Given the description of an element on the screen output the (x, y) to click on. 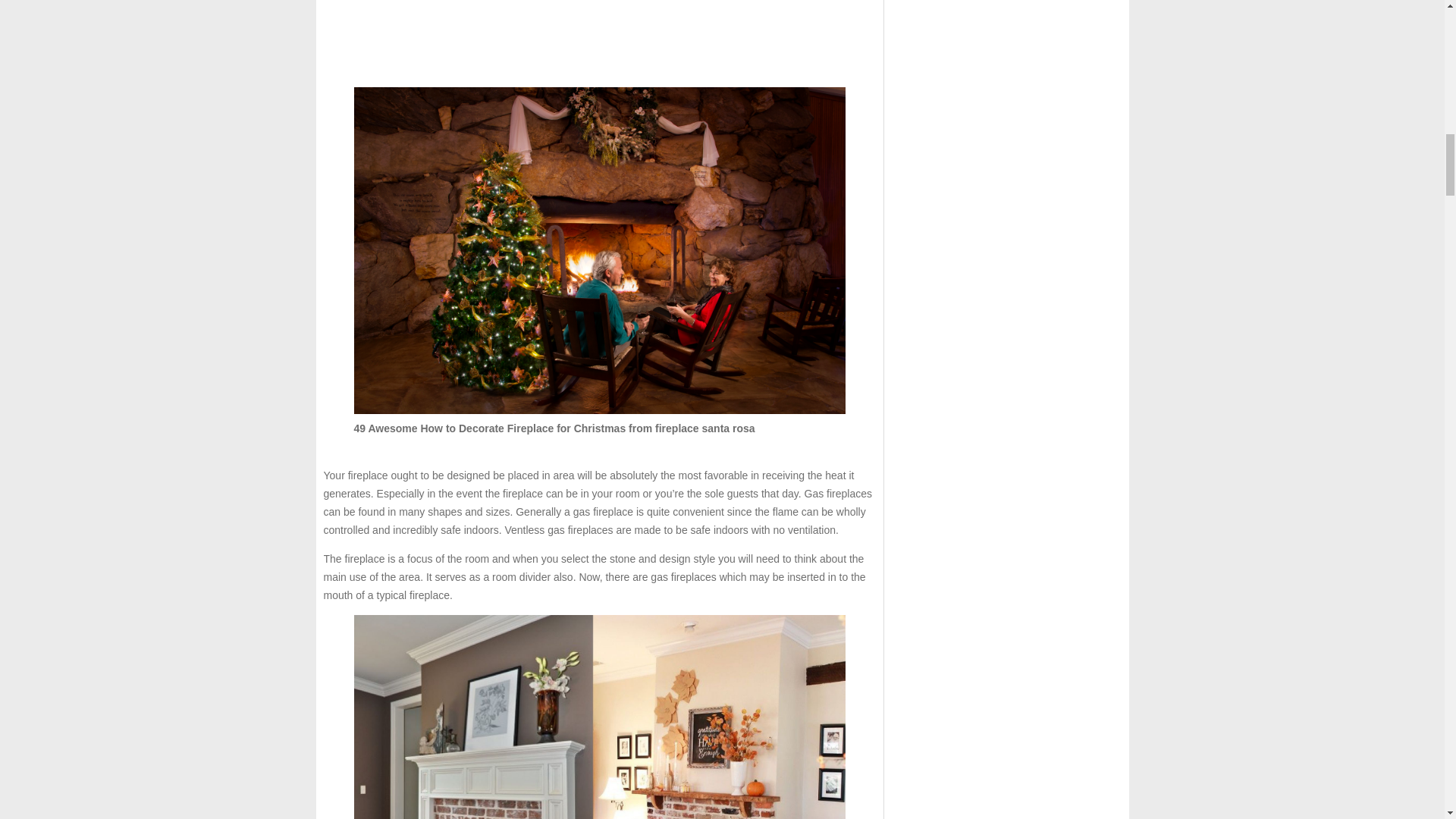
Advertisement (599, 38)
Sticky Fablon Exposed Brick Fireplace (598, 717)
